Given the description of an element on the screen output the (x, y) to click on. 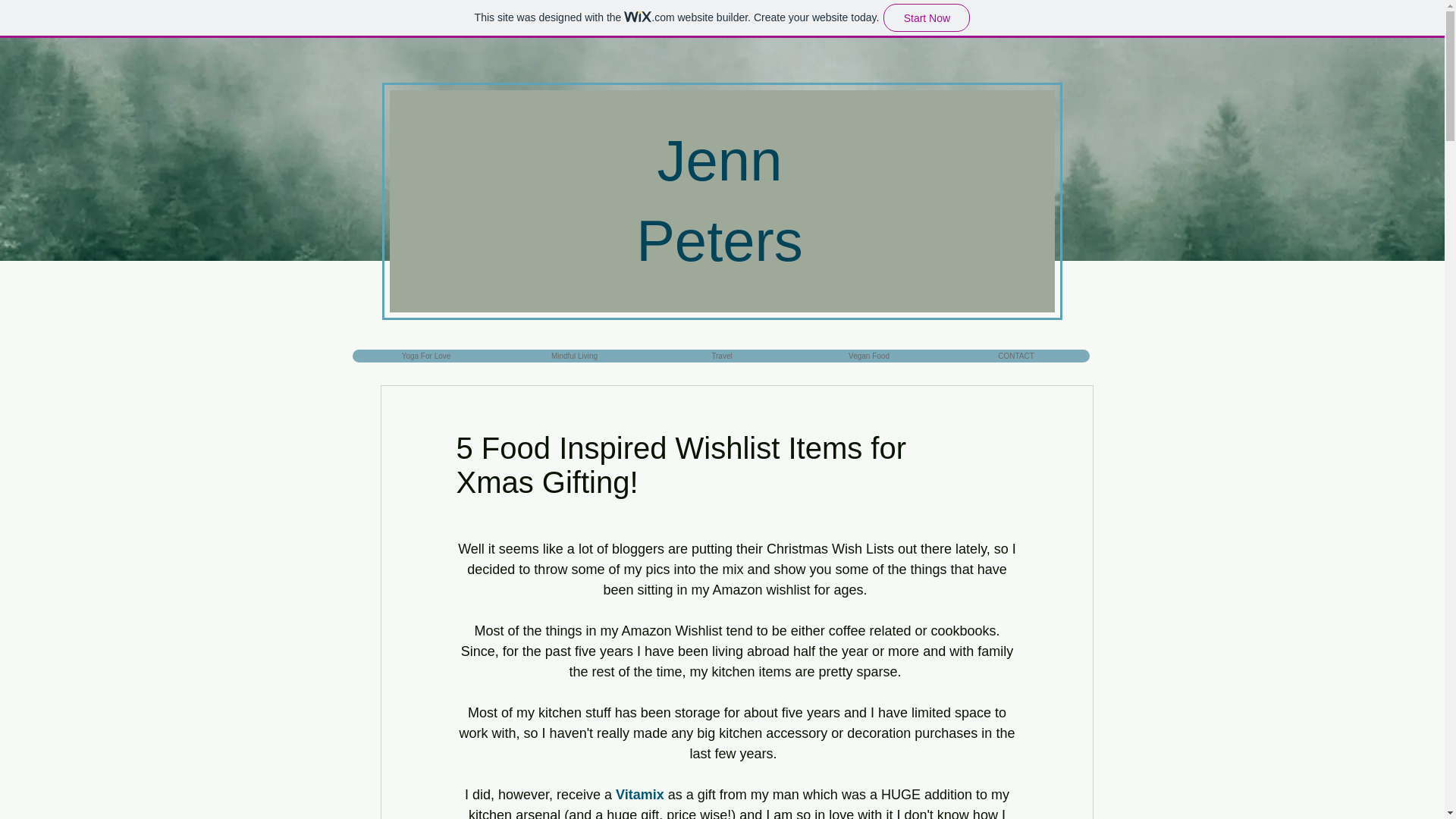
Yoga For Love (425, 355)
Travel (720, 355)
Mindful Living (573, 355)
Vegan Food (868, 355)
Vitamix (639, 794)
CONTACT (1015, 355)
